Given the description of an element on the screen output the (x, y) to click on. 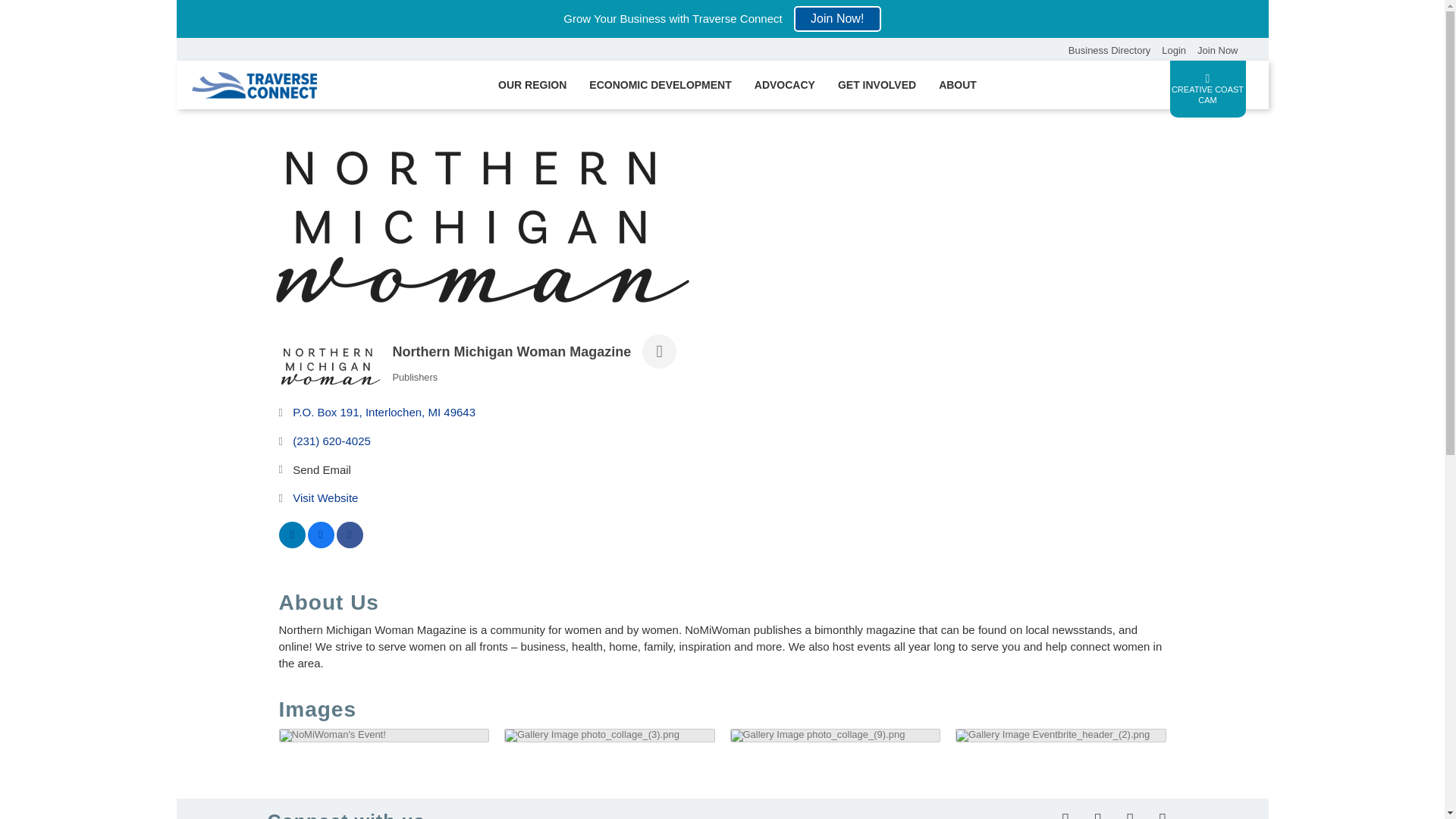
Join Now! (836, 18)
NoMiWoman's Event!  (332, 735)
ECONOMIC DEVELOPMENT (660, 84)
View on Facebook (320, 543)
View on Instagram (349, 543)
Northern Michigan Woman Magazine (480, 226)
search input (1019, 48)
Northern Michigan Woman Magazine (330, 365)
View on LinkedIn (292, 543)
OUR REGION (532, 84)
